Given the description of an element on the screen output the (x, y) to click on. 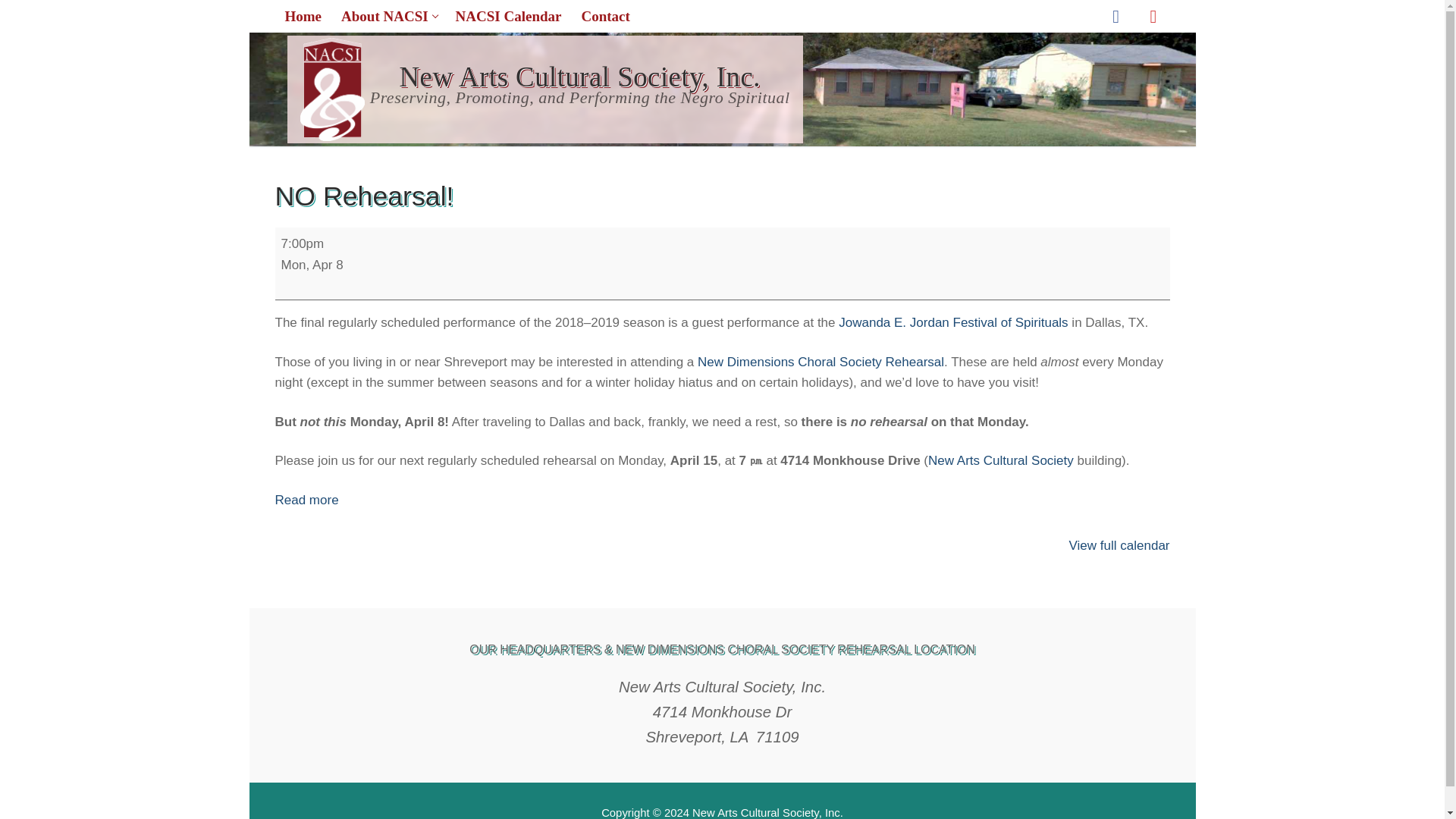
Read more (306, 499)
Jowanda E. Jordan Festival of Spirituals (952, 322)
Facebook (1115, 16)
Home (303, 16)
New Arts Cultural Society (388, 16)
NACSI Calendar (1001, 460)
Youtube (508, 16)
2019-04-08T19:00:00-05:00 (1152, 16)
View full calendar (311, 264)
New Dimensions Choral Society Rehearsal (1119, 545)
2019-04-08T19:00:00-05:00 (820, 361)
Contact (302, 243)
About the New Arts Cultural Society and its choirs. (604, 16)
New Arts Cultural Society, Inc. (388, 16)
